Given the description of an element on the screen output the (x, y) to click on. 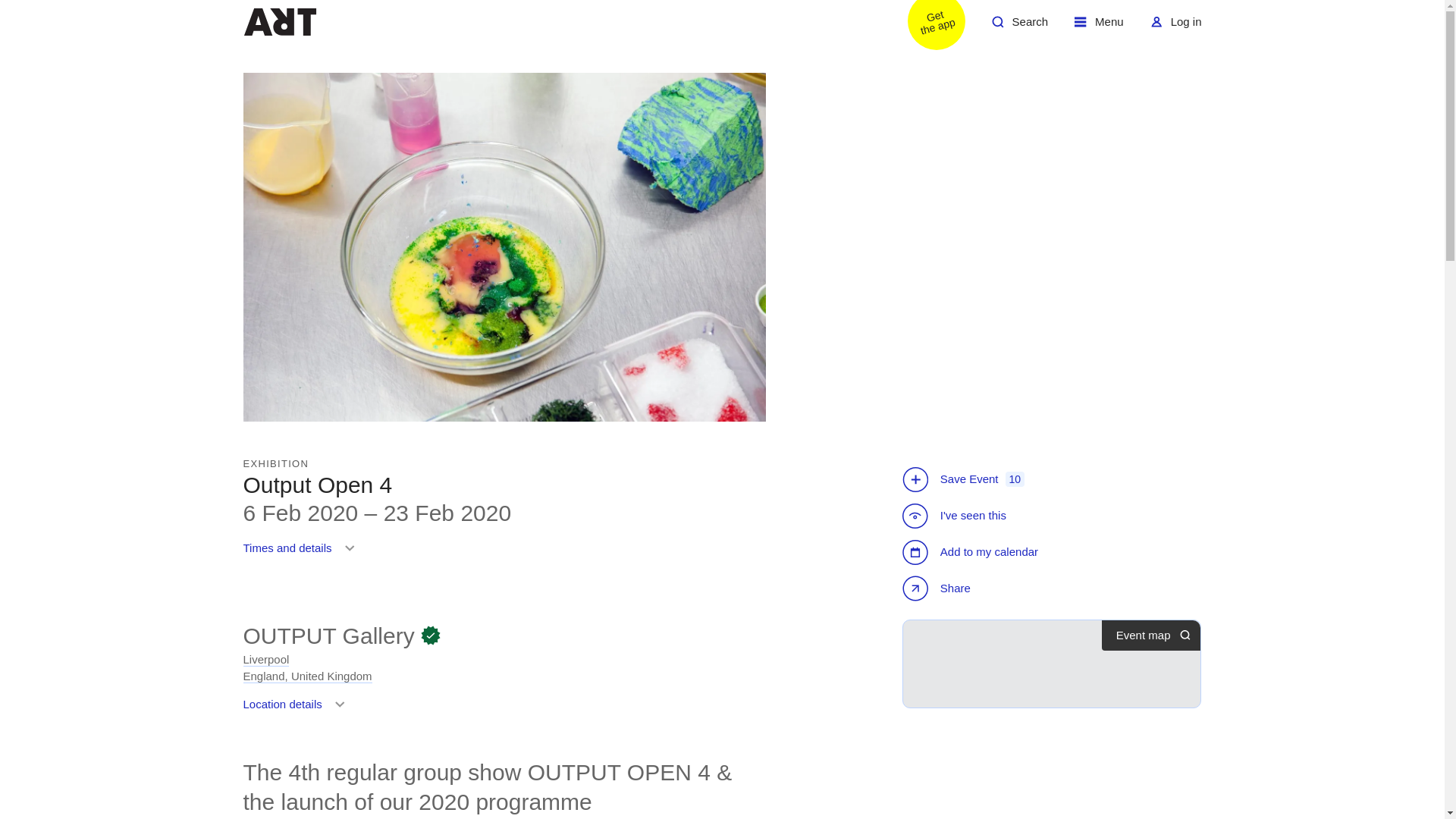
Add to my calendar (972, 551)
Welcome to ArtRabbit (297, 709)
Share (926, 27)
OUTPUT Gallery (1176, 26)
